Given the description of an element on the screen output the (x, y) to click on. 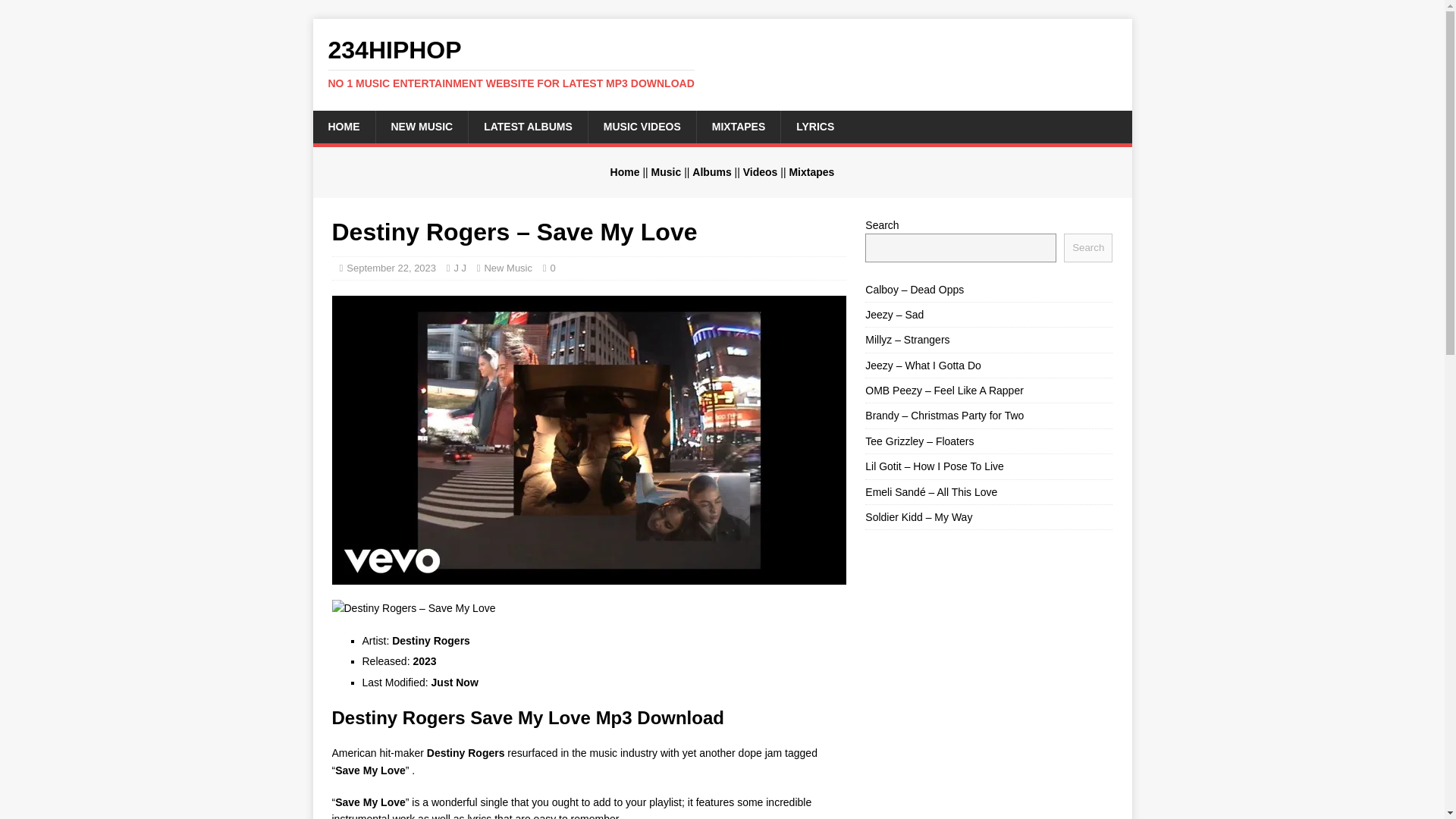
J J (458, 267)
September 22, 2023 (390, 267)
234HipHop (721, 63)
NEW MUSIC (420, 126)
Home (625, 172)
LYRICS (814, 126)
MUSIC VIDEOS (641, 126)
Mixtapes (811, 172)
HOME (343, 126)
Albums (711, 172)
Search (1088, 247)
LATEST ALBUMS (527, 126)
MIXTAPES (737, 126)
Music (665, 172)
